Given the description of an element on the screen output the (x, y) to click on. 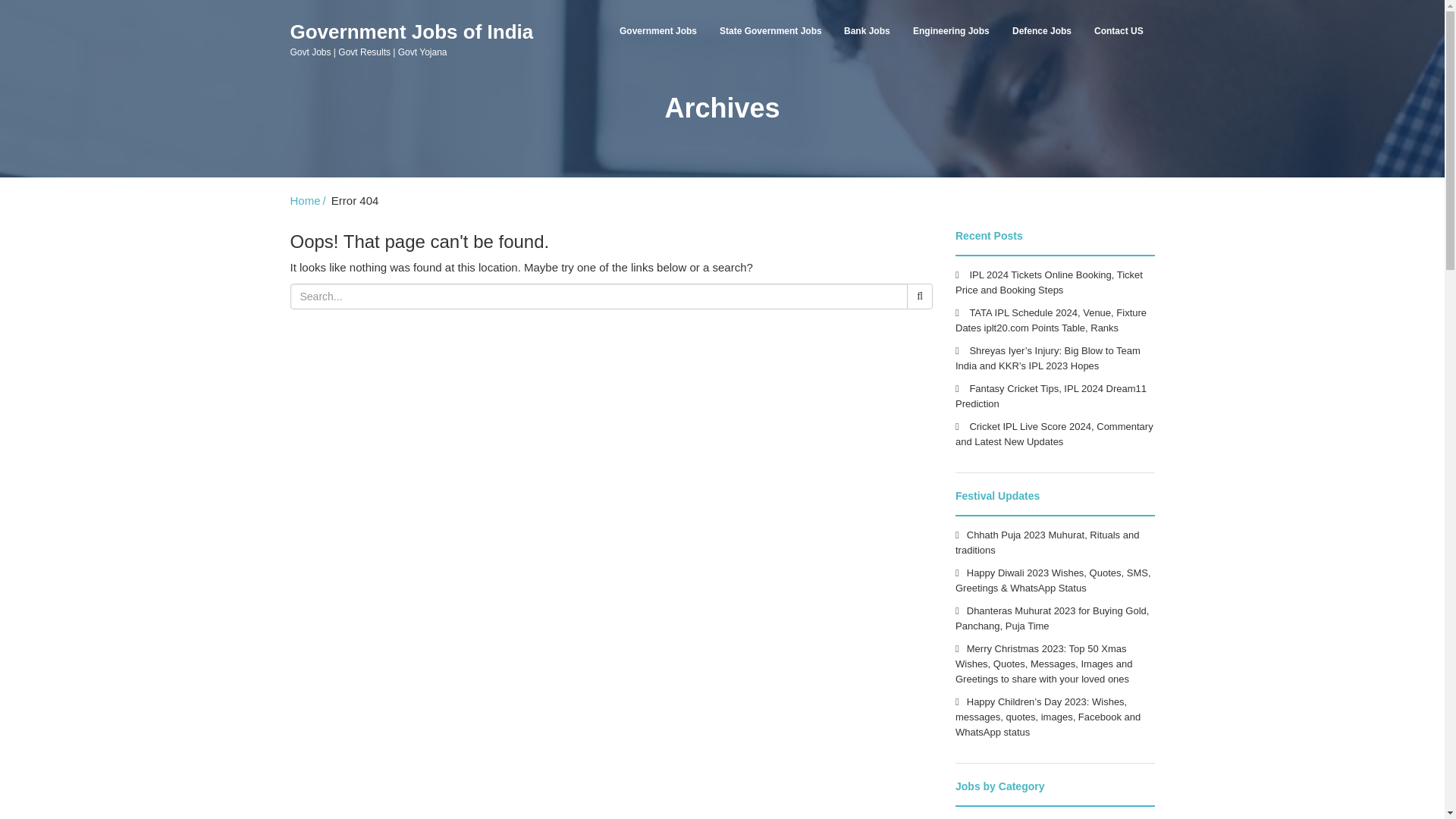
Contact US (1118, 30)
Home (308, 200)
Dhanteras Muhurat 2023 for Buying Gold, Panchang, Puja Time (1051, 618)
Bank Jobs (866, 30)
Government Jobs (658, 30)
State Government Jobs (770, 30)
Chhath Puja 2023 Muhurat, Rituals and traditions (1046, 542)
Defence Jobs (1041, 30)
Fantasy Cricket Tips, IPL 2024 Dream11 Prediction (1051, 396)
Engineering Jobs (951, 30)
